Given the description of an element on the screen output the (x, y) to click on. 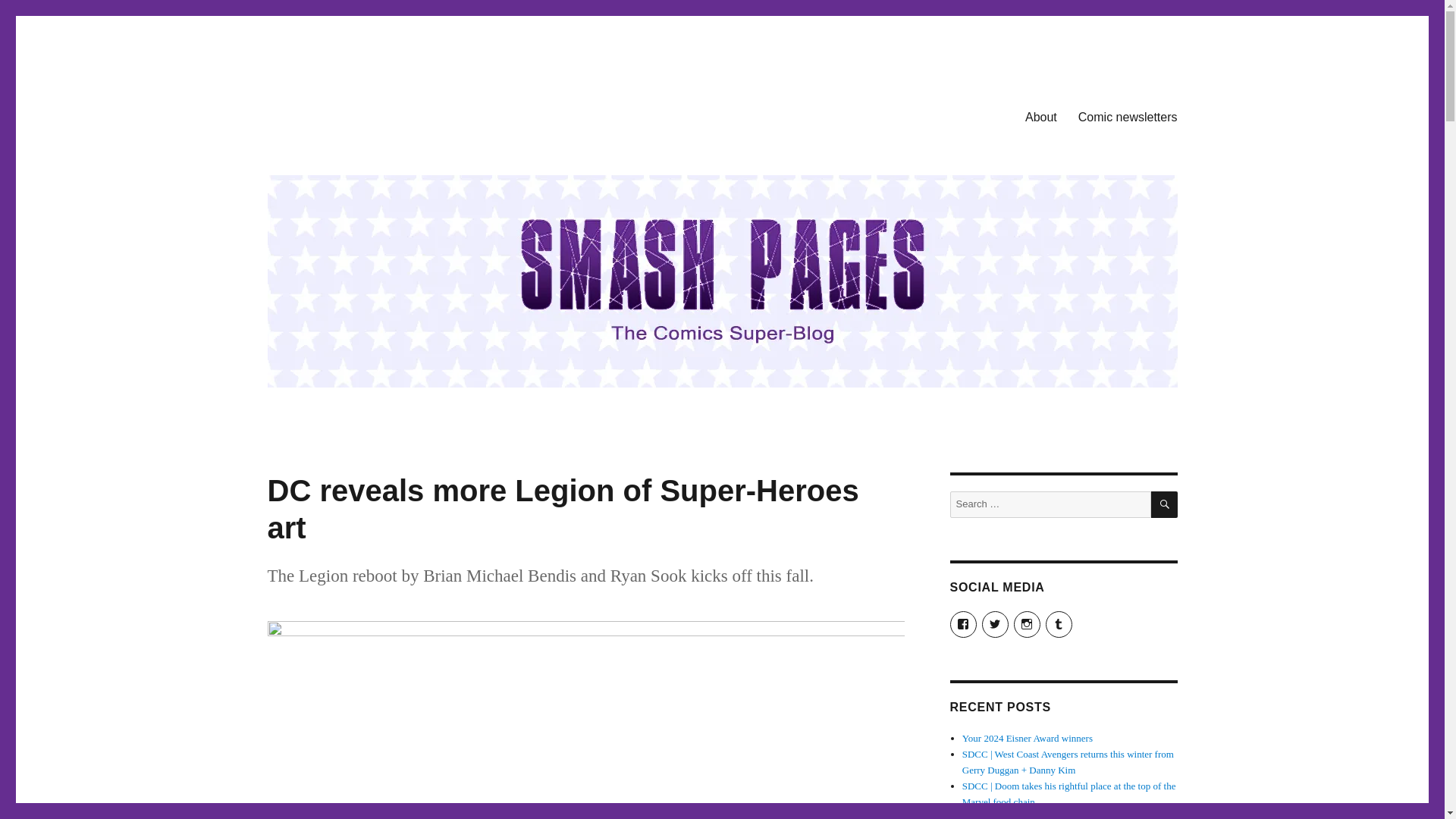
Comic newsletters (1127, 116)
Your 2024 Eisner Award winners (1027, 737)
SEARCH (1164, 504)
SMASH PAGES (344, 114)
About (1040, 116)
